Given the description of an element on the screen output the (x, y) to click on. 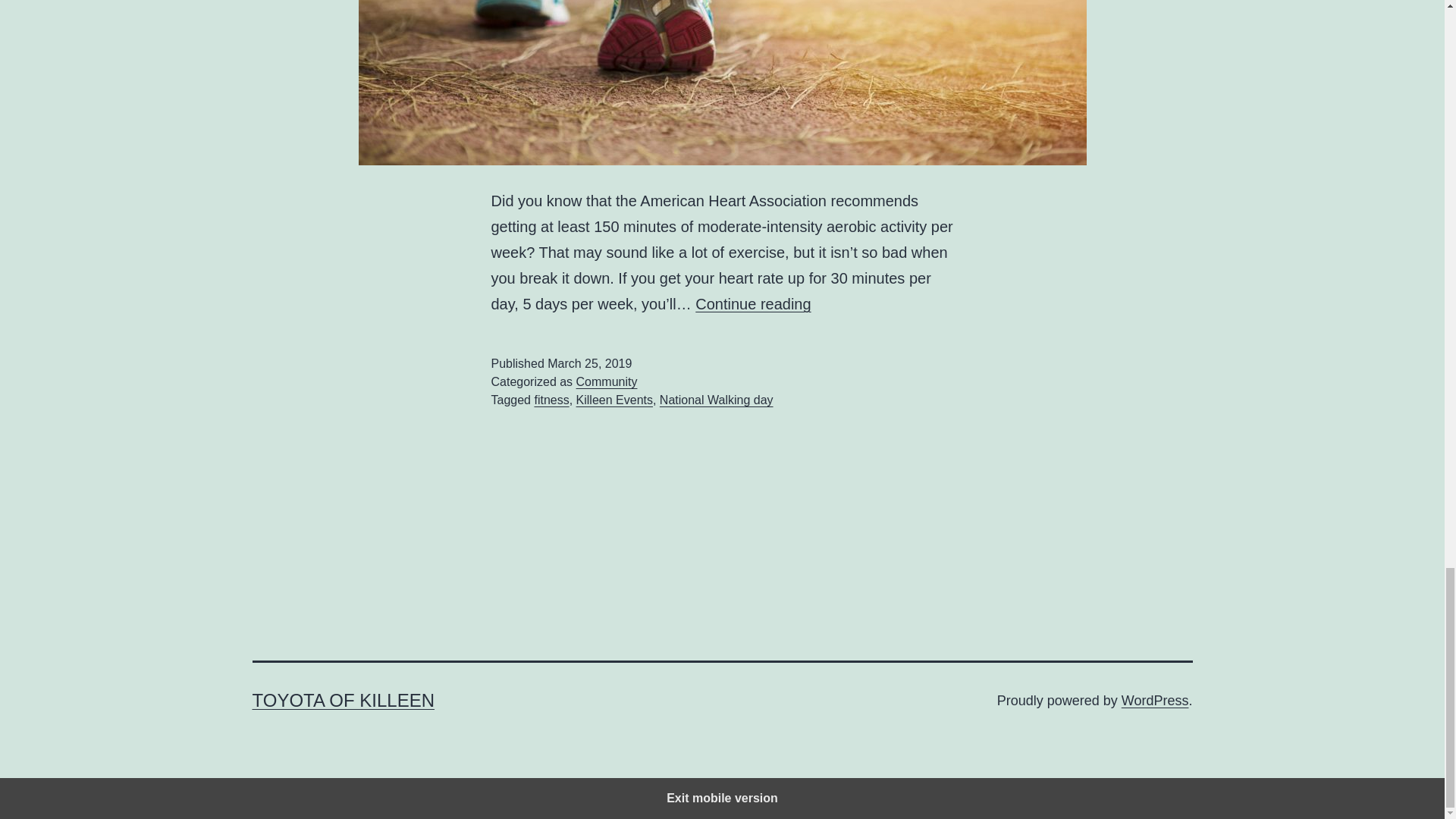
Killeen Events (614, 399)
Community (606, 381)
National Walking day (716, 399)
TOYOTA OF KILLEEN (342, 700)
fitness (551, 399)
WordPress (1155, 700)
